Given the description of an element on the screen output the (x, y) to click on. 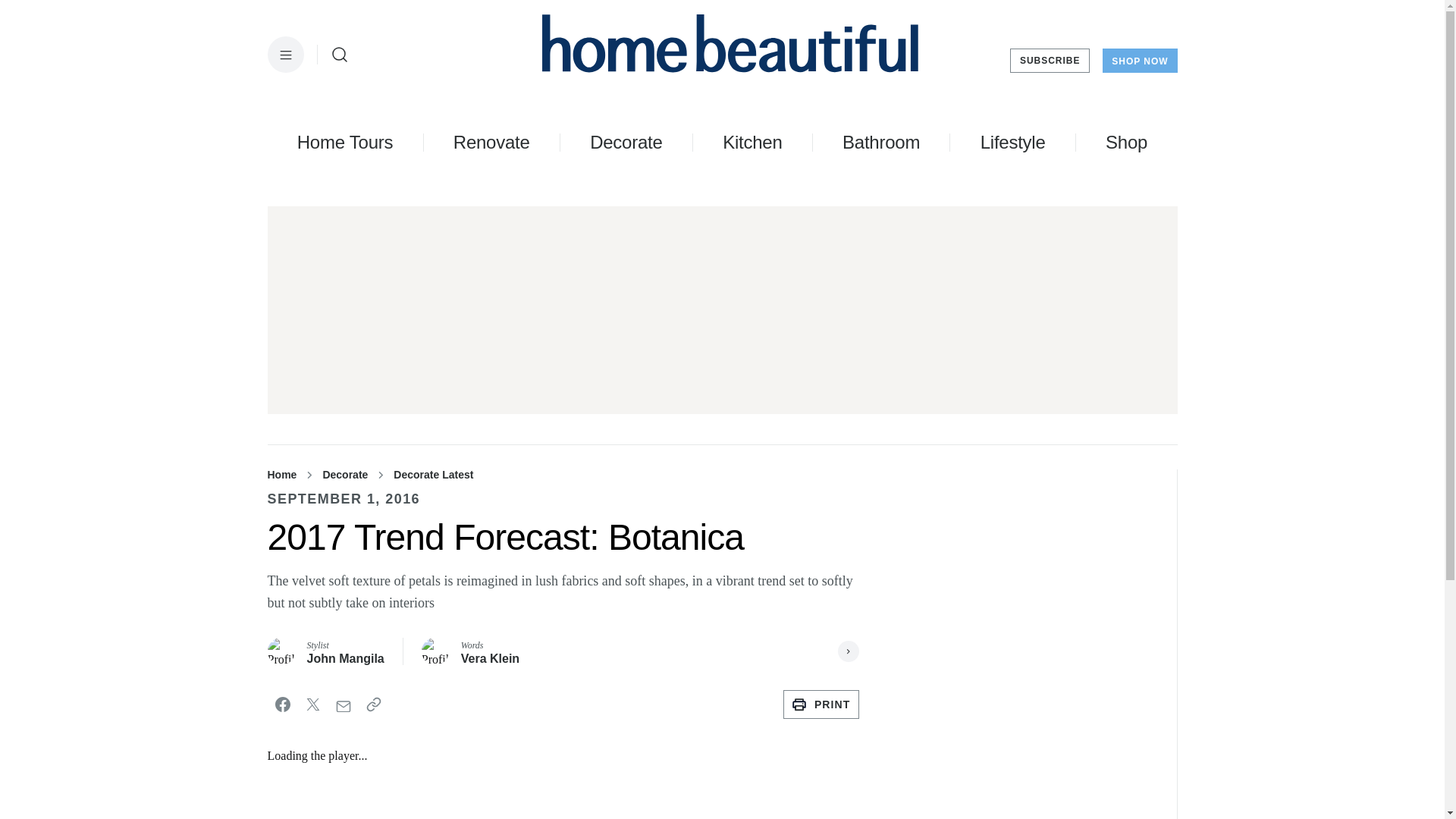
SUBSCRIBE (1049, 60)
Renovate (490, 141)
Lifestyle (1012, 141)
Kitchen (751, 141)
SHOP NOW (1139, 60)
Home Tours (345, 141)
Bathroom (881, 141)
Shop (1126, 141)
Decorate (625, 141)
